Given the description of an element on the screen output the (x, y) to click on. 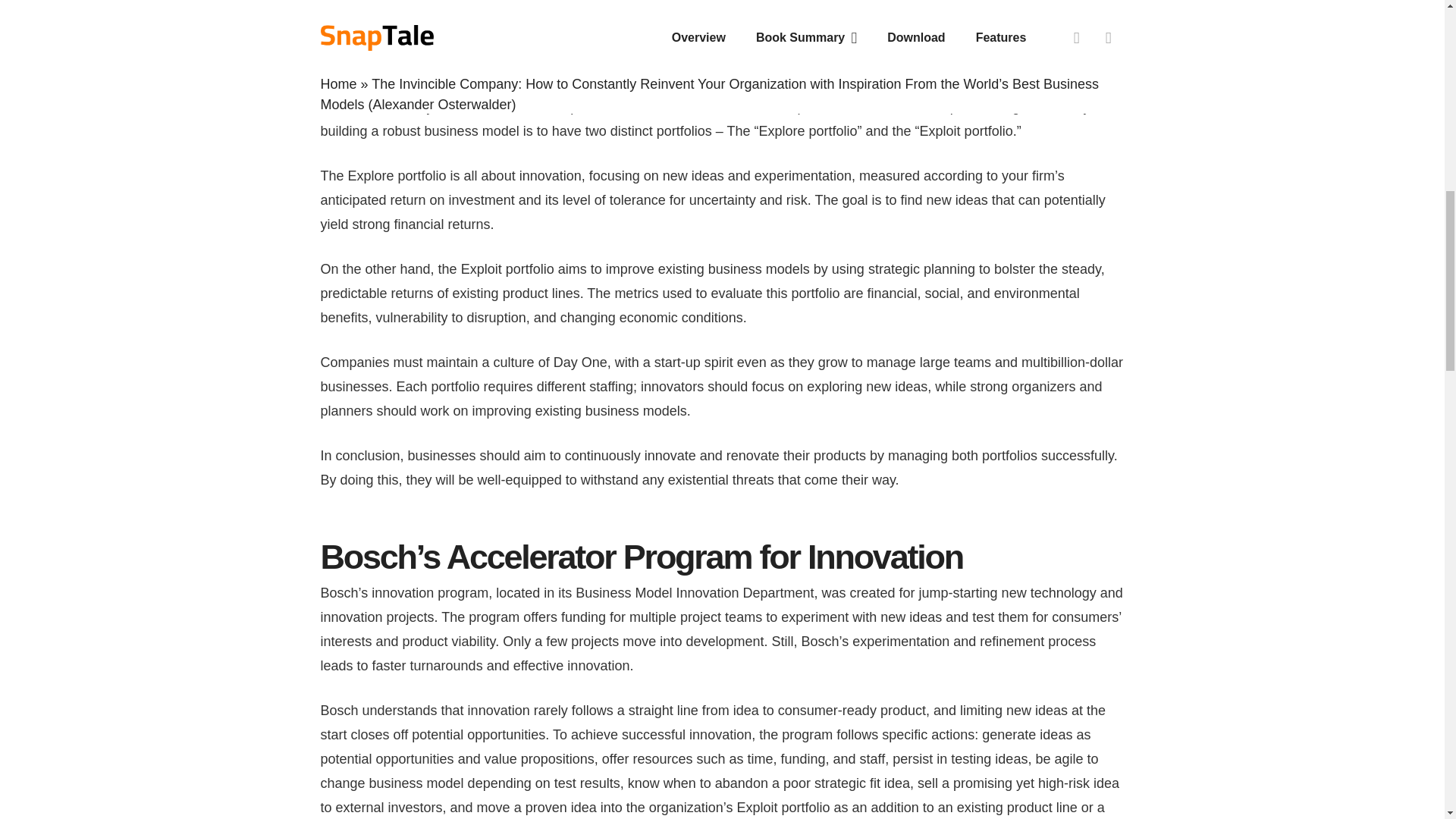
Back to top (1413, 37)
